Given the description of an element on the screen output the (x, y) to click on. 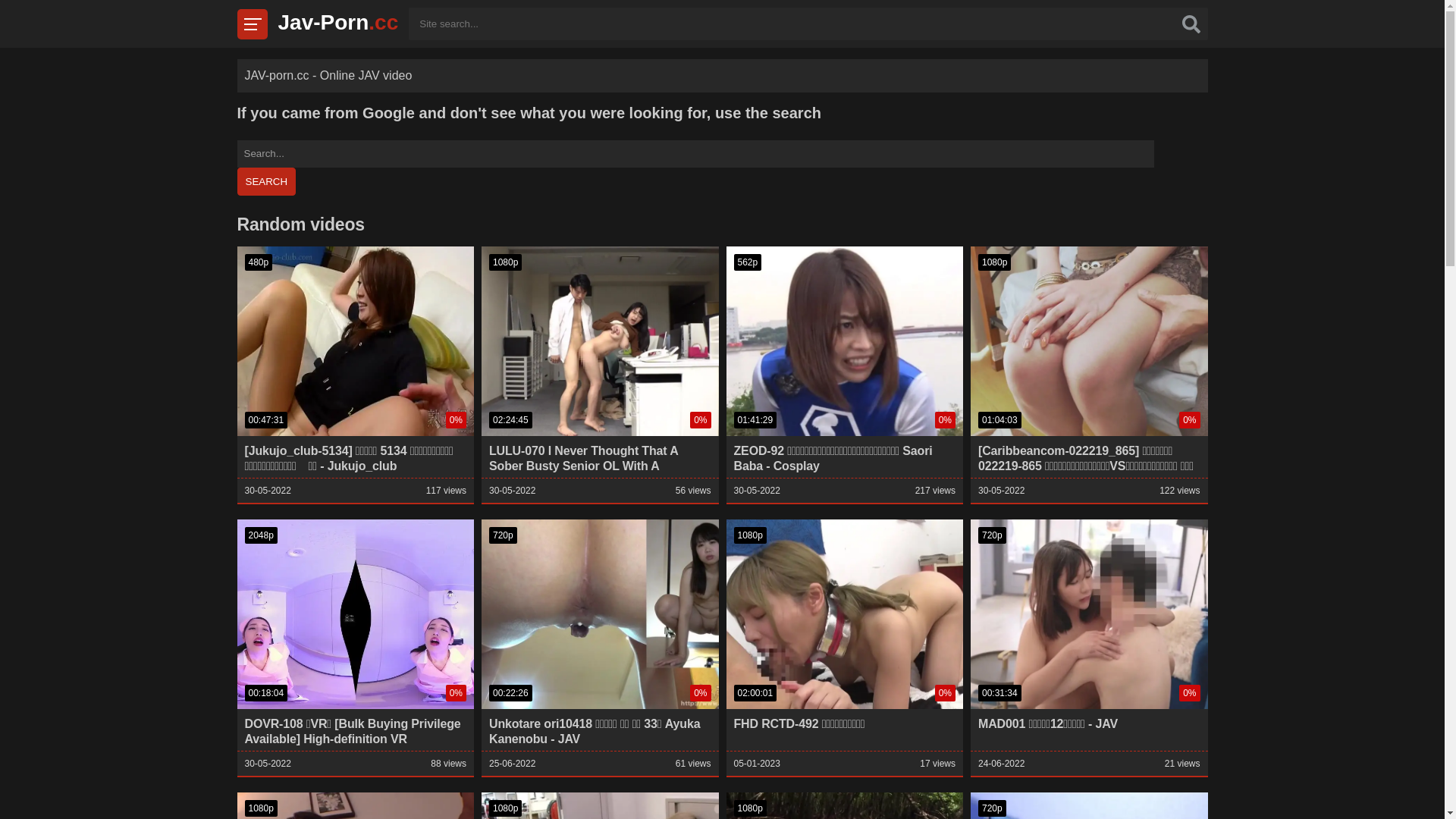
Find Element type: hover (1190, 23)
JAV-porn.cc - Online JAV video Element type: text (327, 75)
Jav-Porn.cc Element type: text (337, 22)
SEARCH Element type: text (265, 181)
